Given the description of an element on the screen output the (x, y) to click on. 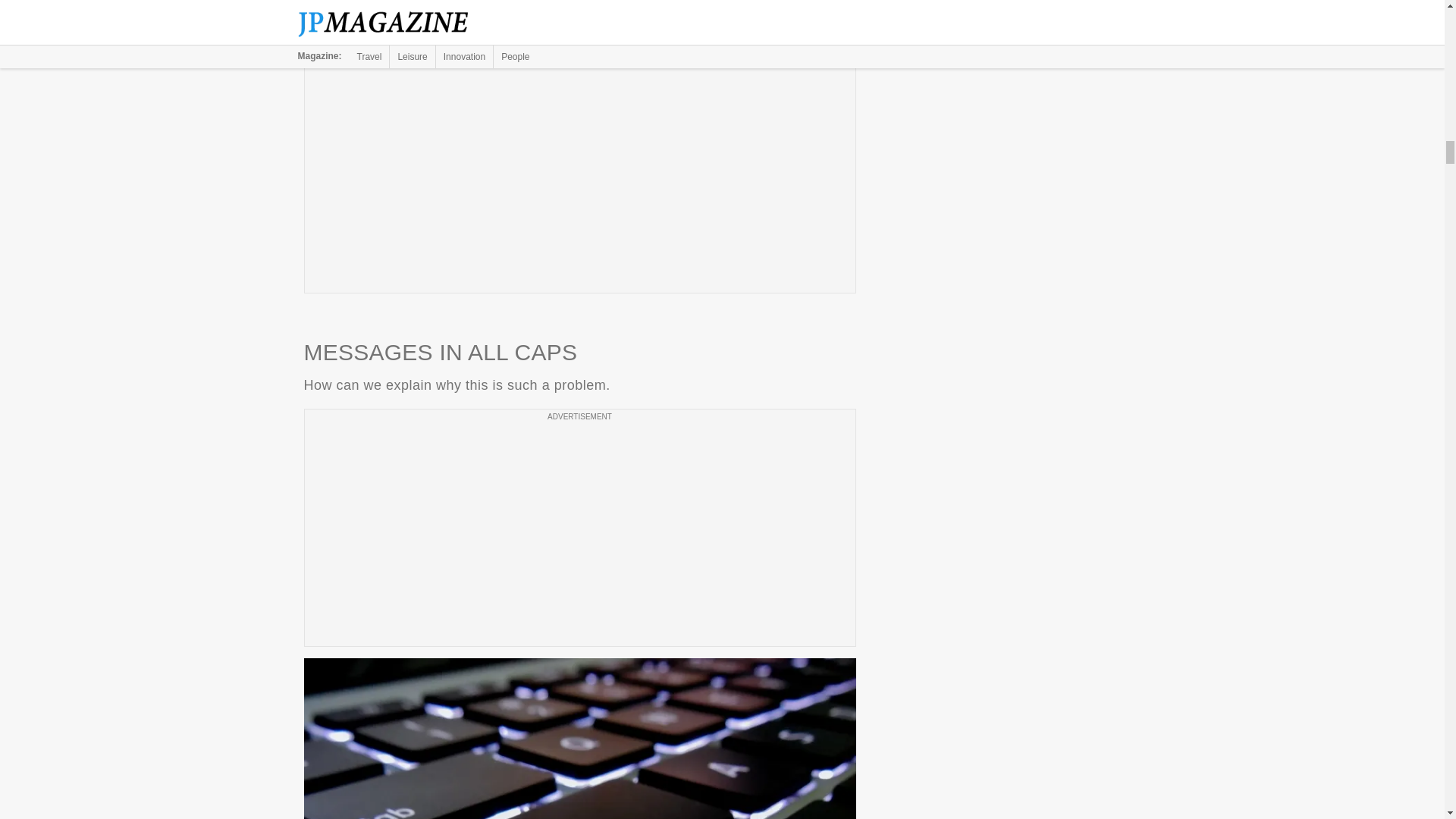
MESSAGES IN ALL CAPS (579, 738)
